Given the description of an element on the screen output the (x, y) to click on. 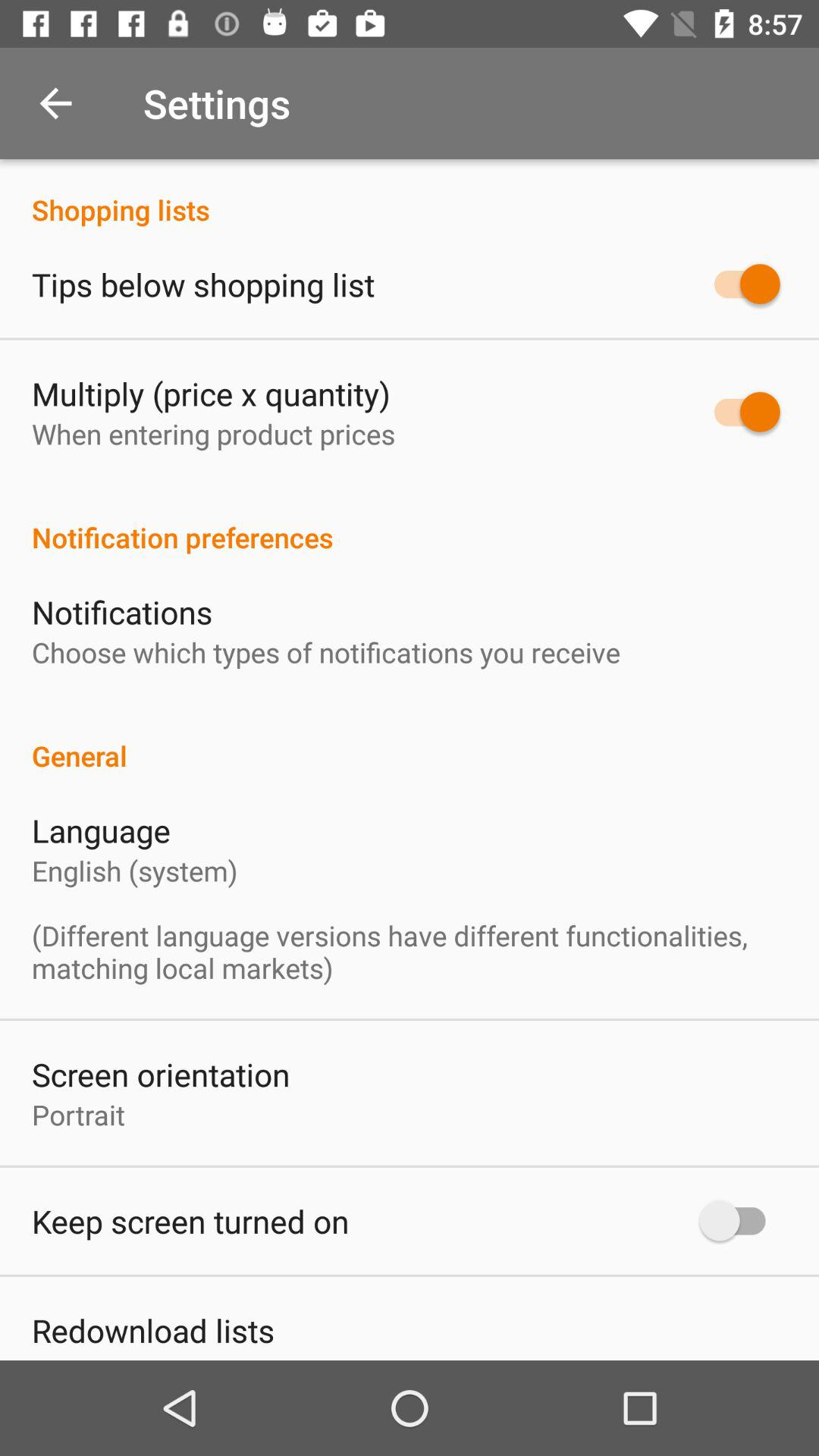
select notification preferences icon (409, 521)
